Given the description of an element on the screen output the (x, y) to click on. 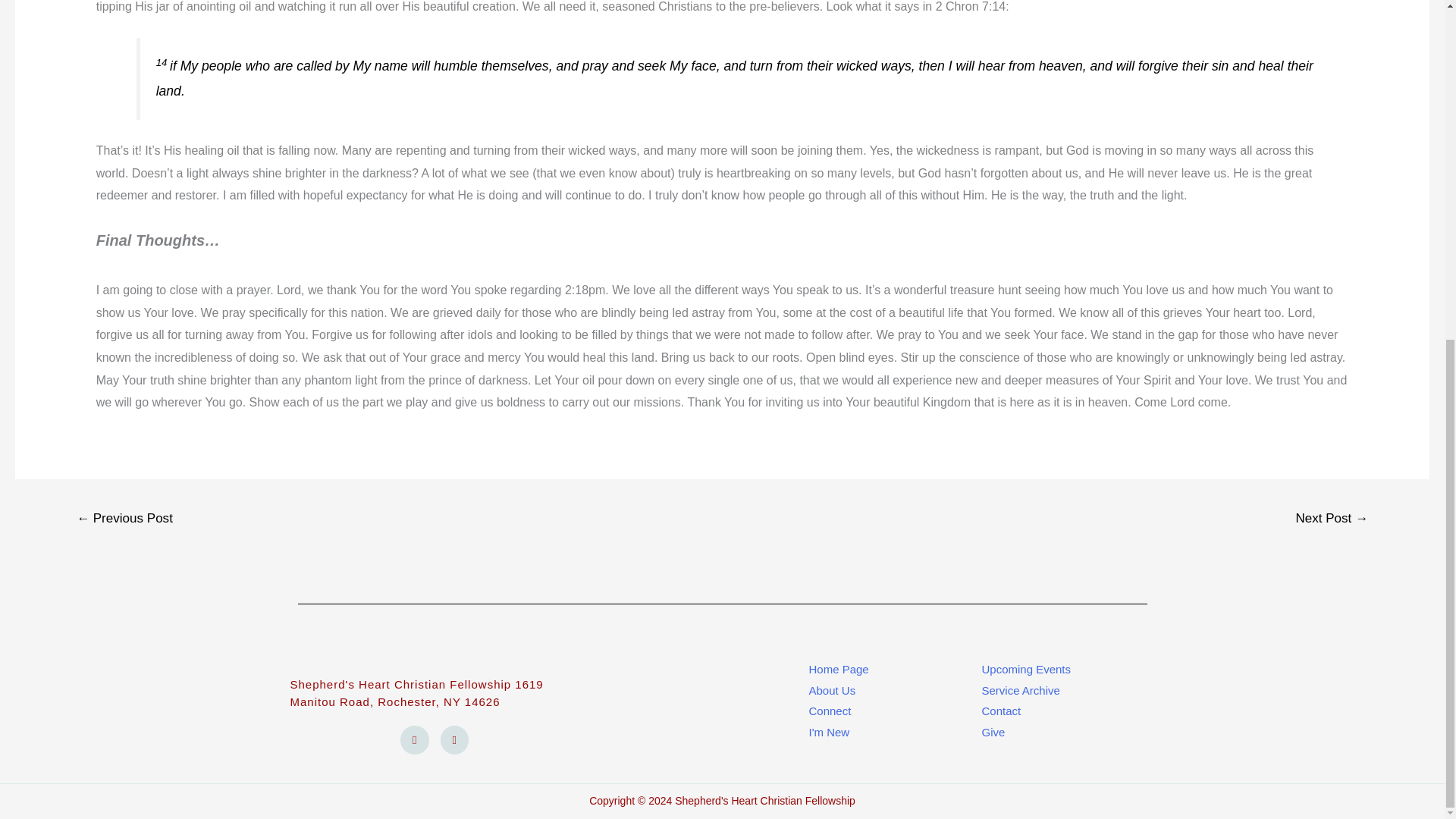
Service Archive (1057, 691)
Contact (1057, 711)
I'm New (894, 732)
Give (1057, 732)
Connect (894, 711)
Home Page (894, 669)
About Us (894, 691)
Upcoming Events (1057, 669)
